Given the description of an element on the screen output the (x, y) to click on. 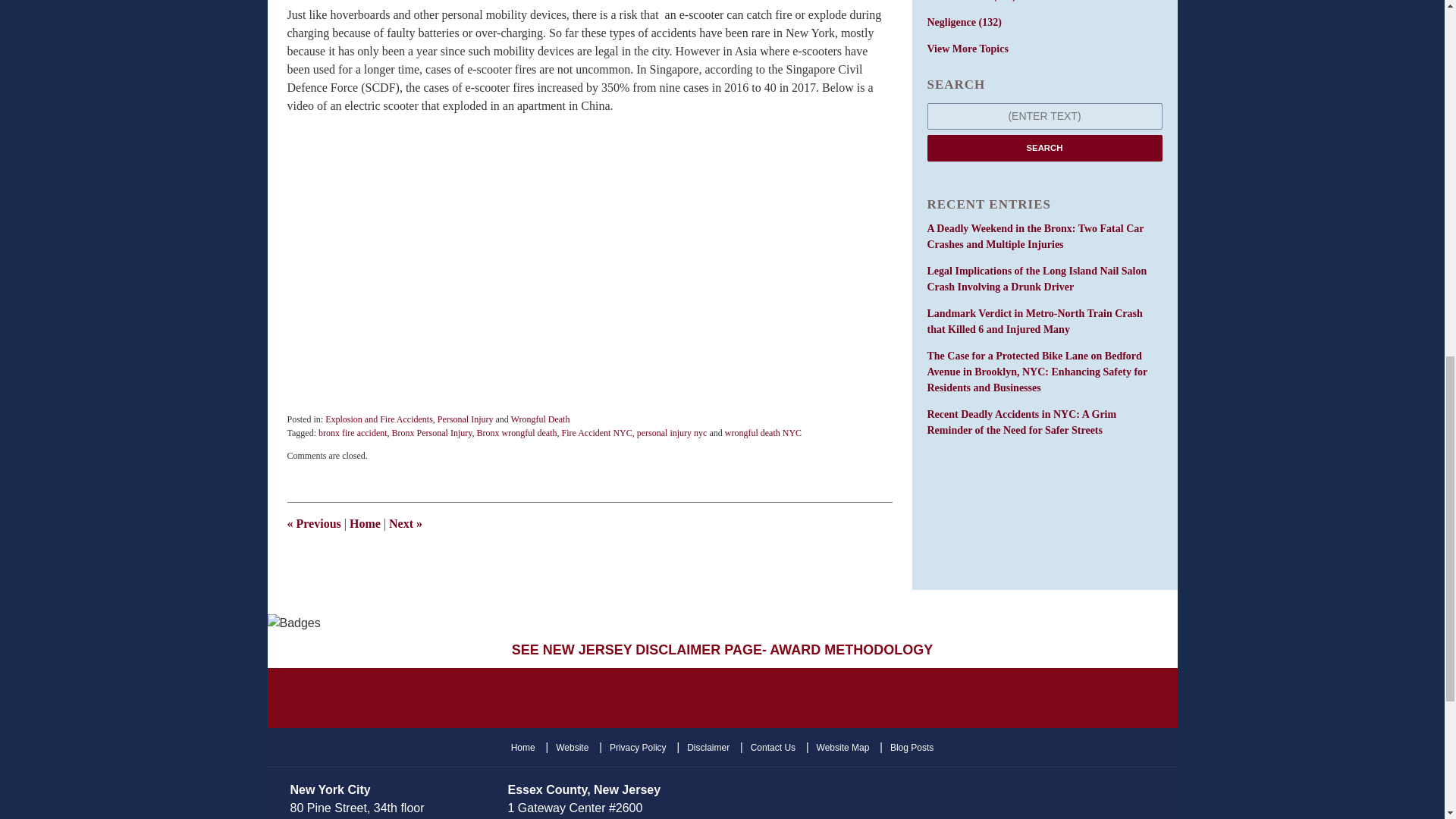
wrongful death NYC (763, 432)
View all posts in Personal Injury (465, 419)
Bronx Personal Injury (431, 432)
View all posts tagged with Bronx wrongful death (516, 432)
Fire Accident NYC (595, 432)
View all posts tagged with Bronx Personal Injury (431, 432)
View all posts in Wrongful Death (540, 419)
Personal Injury (465, 419)
View all posts in Explosion and Fire Accidents (378, 419)
View all posts tagged with bronx fire accident (352, 432)
Explosion and Fire Accidents (378, 419)
View all posts tagged with personal injury nyc (672, 432)
View all posts tagged with Fire Accident NYC (595, 432)
bronx fire accident (352, 432)
